Given the description of an element on the screen output the (x, y) to click on. 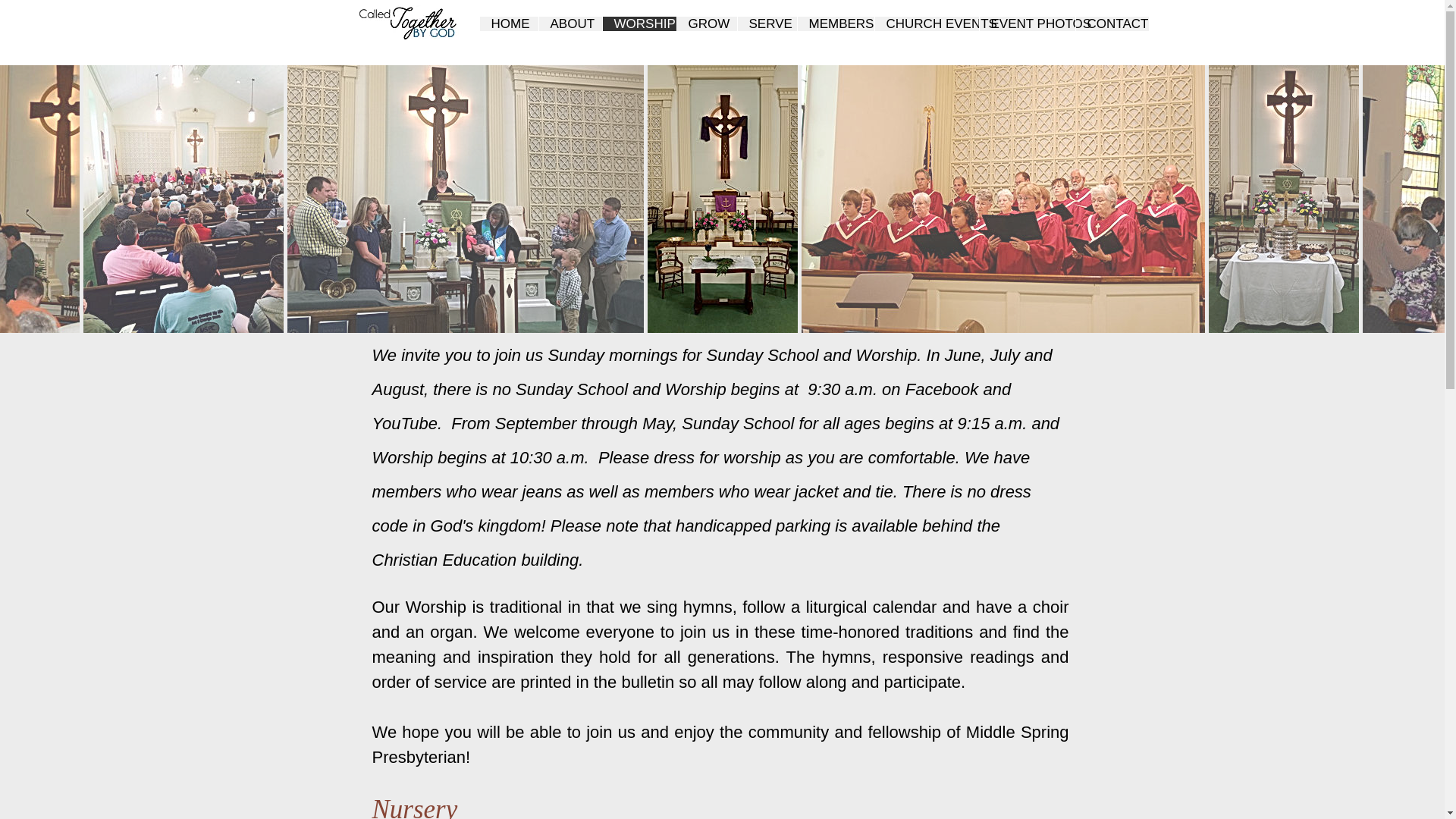
SERVE (766, 23)
GROW (706, 23)
CONTACT (1111, 23)
MEMBERS (834, 23)
WORSHIP (639, 23)
ABOUT (570, 23)
HOME (508, 23)
